Given the description of an element on the screen output the (x, y) to click on. 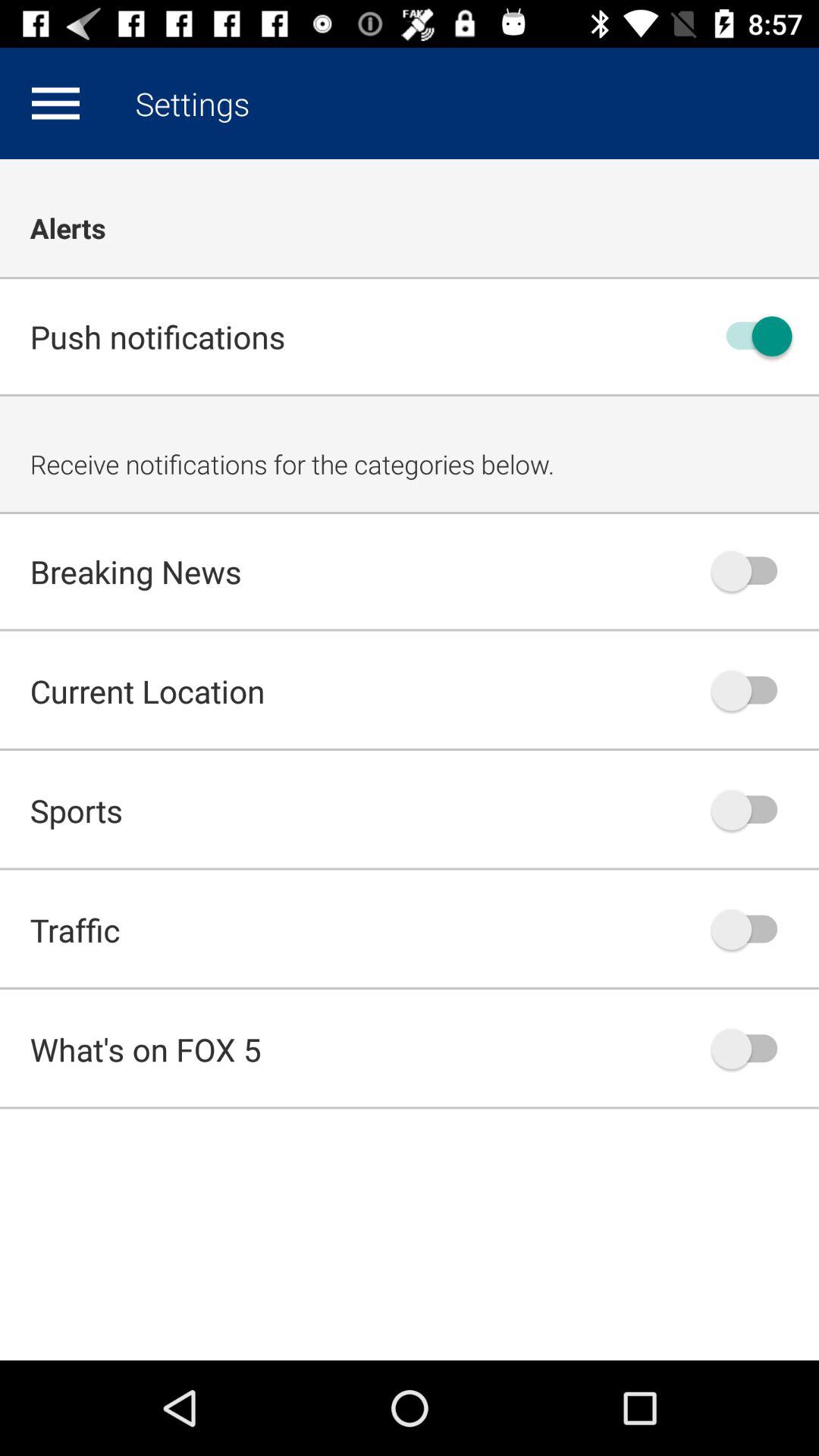
switch on/off (751, 929)
